Given the description of an element on the screen output the (x, y) to click on. 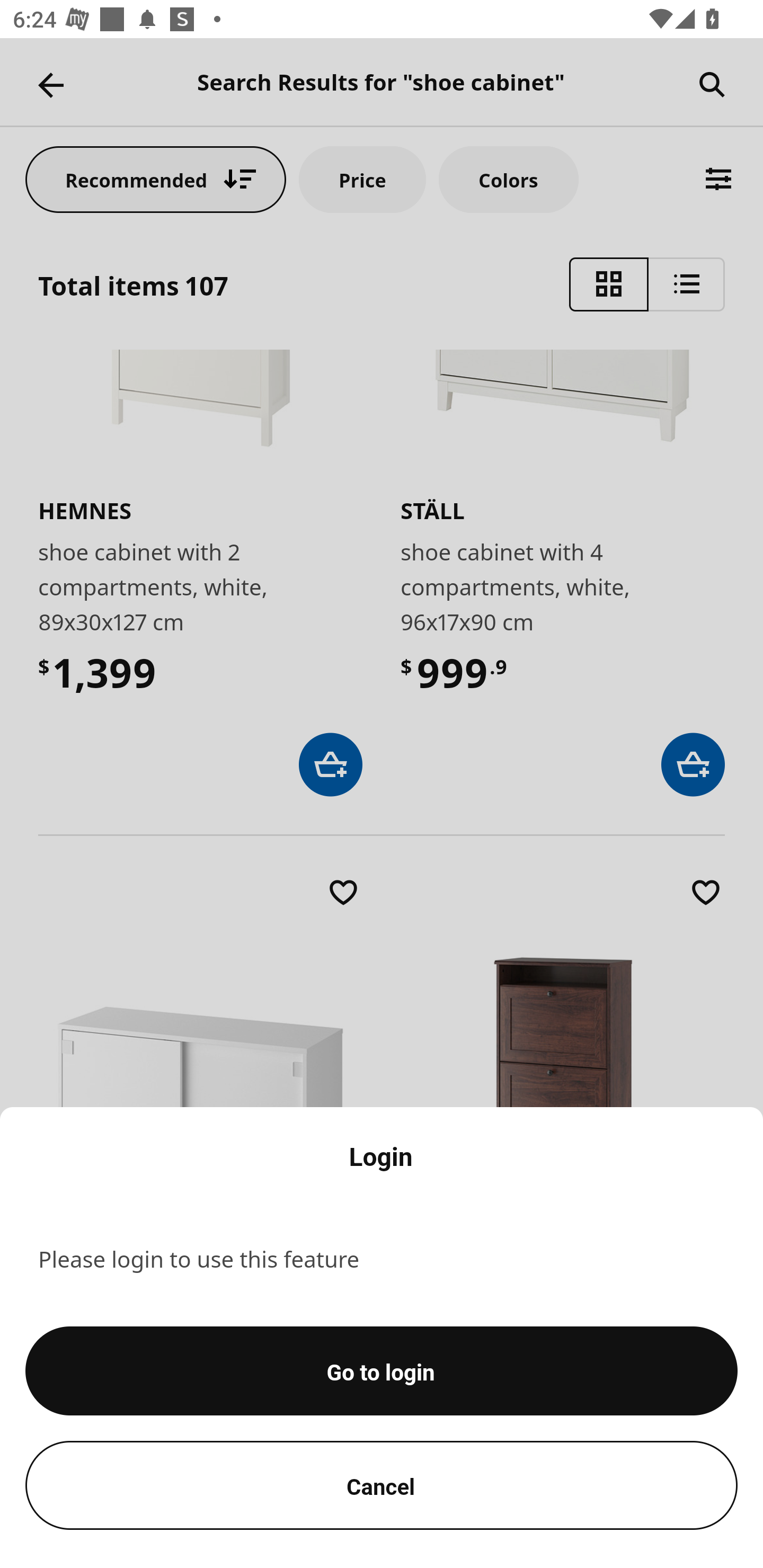
Go to login (381, 1370)
Cancel (381, 1485)
